Given the description of an element on the screen output the (x, y) to click on. 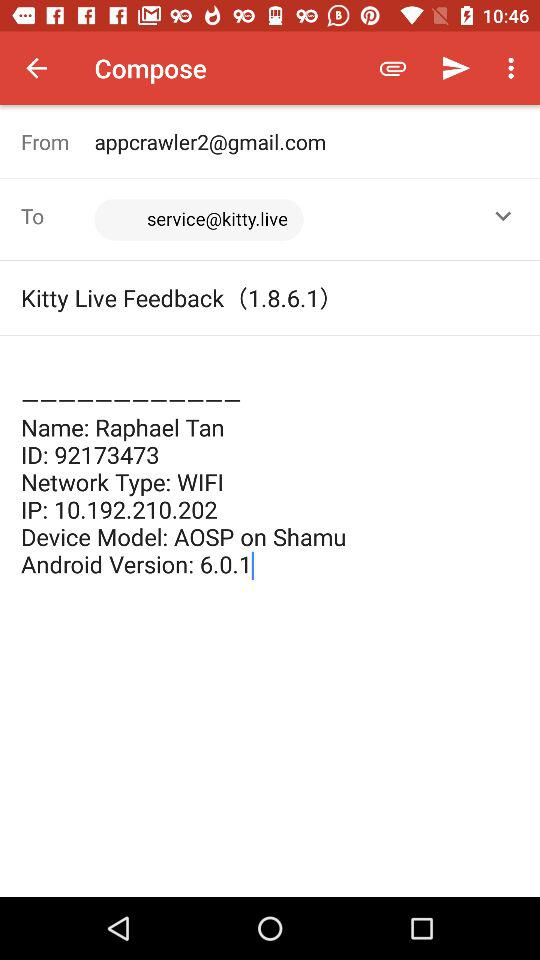
turn off item next to the <service@kitty.live>,  icon (503, 215)
